Given the description of an element on the screen output the (x, y) to click on. 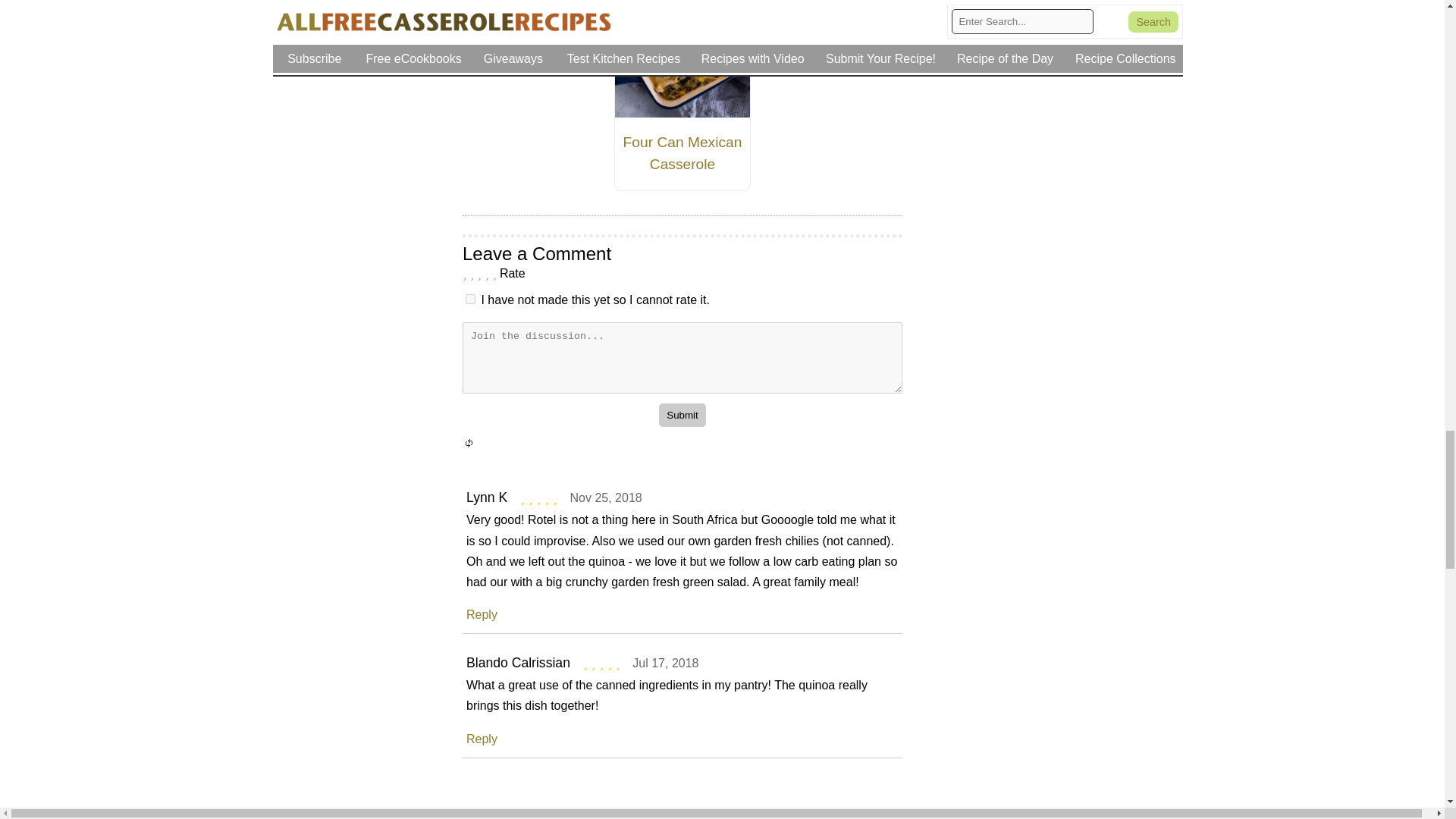
1 (470, 298)
Submit (681, 414)
